Given the description of an element on the screen output the (x, y) to click on. 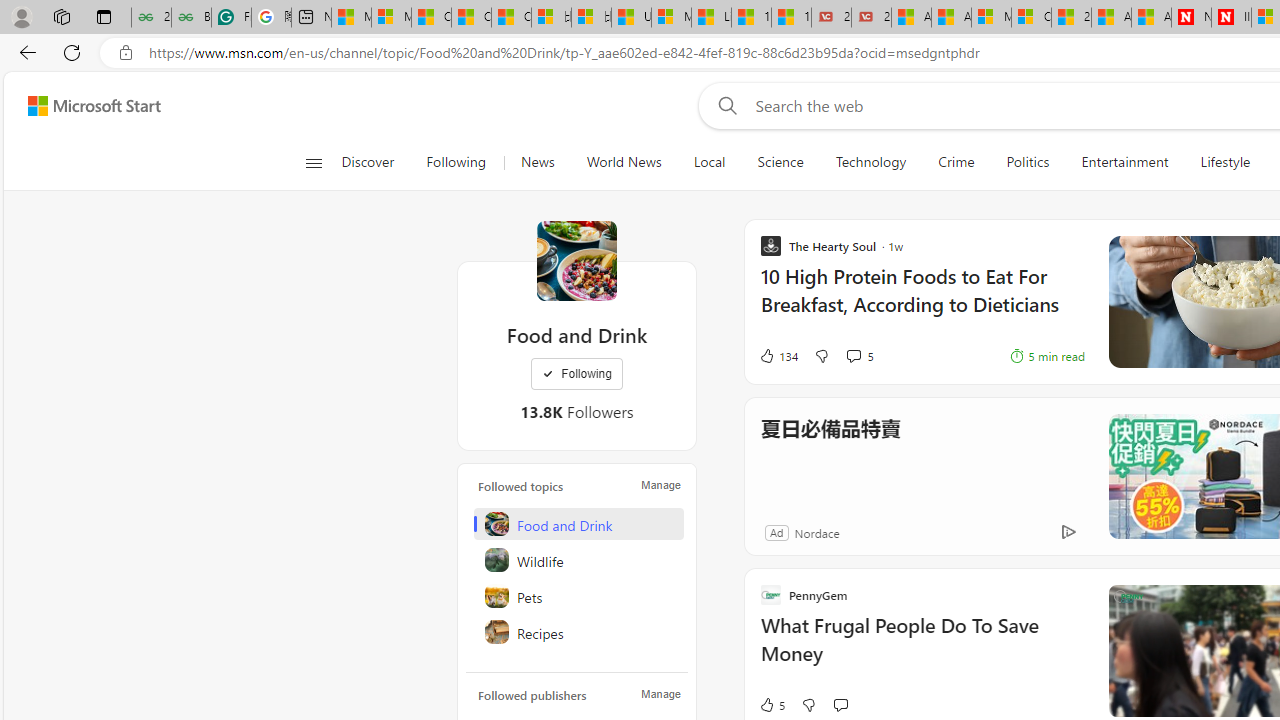
Politics (1027, 162)
Technology (870, 162)
Tab actions menu (104, 16)
Food and Drink (578, 524)
Recipes (578, 632)
Science (779, 162)
Refresh (72, 52)
Web search (724, 105)
Technology (870, 162)
Manage (660, 693)
Dislike (808, 704)
Free AI Writing Assistance for Students | Grammarly (231, 17)
